Given the description of an element on the screen output the (x, y) to click on. 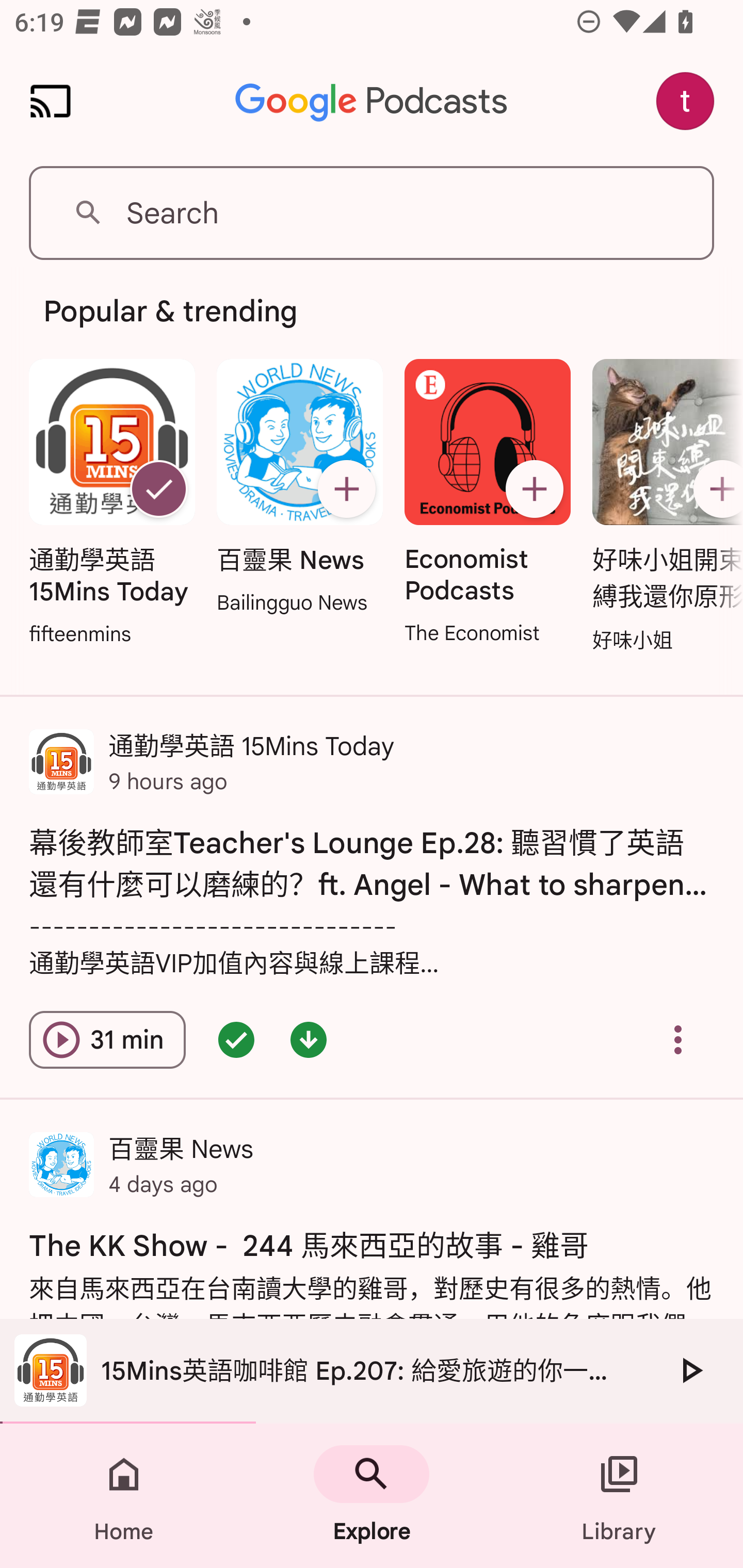
Cast. Disconnected (50, 101)
Search (371, 212)
百靈果 News Subscribe 百靈果 News Bailingguo News (299, 488)
好味小姐開束縛我還你原形 Subscribe 好味小姐開束縛我還你原形 好味小姐 (662, 507)
Unsubscribe (158, 489)
Subscribe (346, 489)
Subscribe (534, 489)
Subscribe (714, 489)
Episode queued - double tap for options (235, 1040)
Episode downloaded - double tap for options (308, 1040)
Overflow menu (677, 1040)
Play (690, 1370)
Home (123, 1495)
Library (619, 1495)
